Given the description of an element on the screen output the (x, y) to click on. 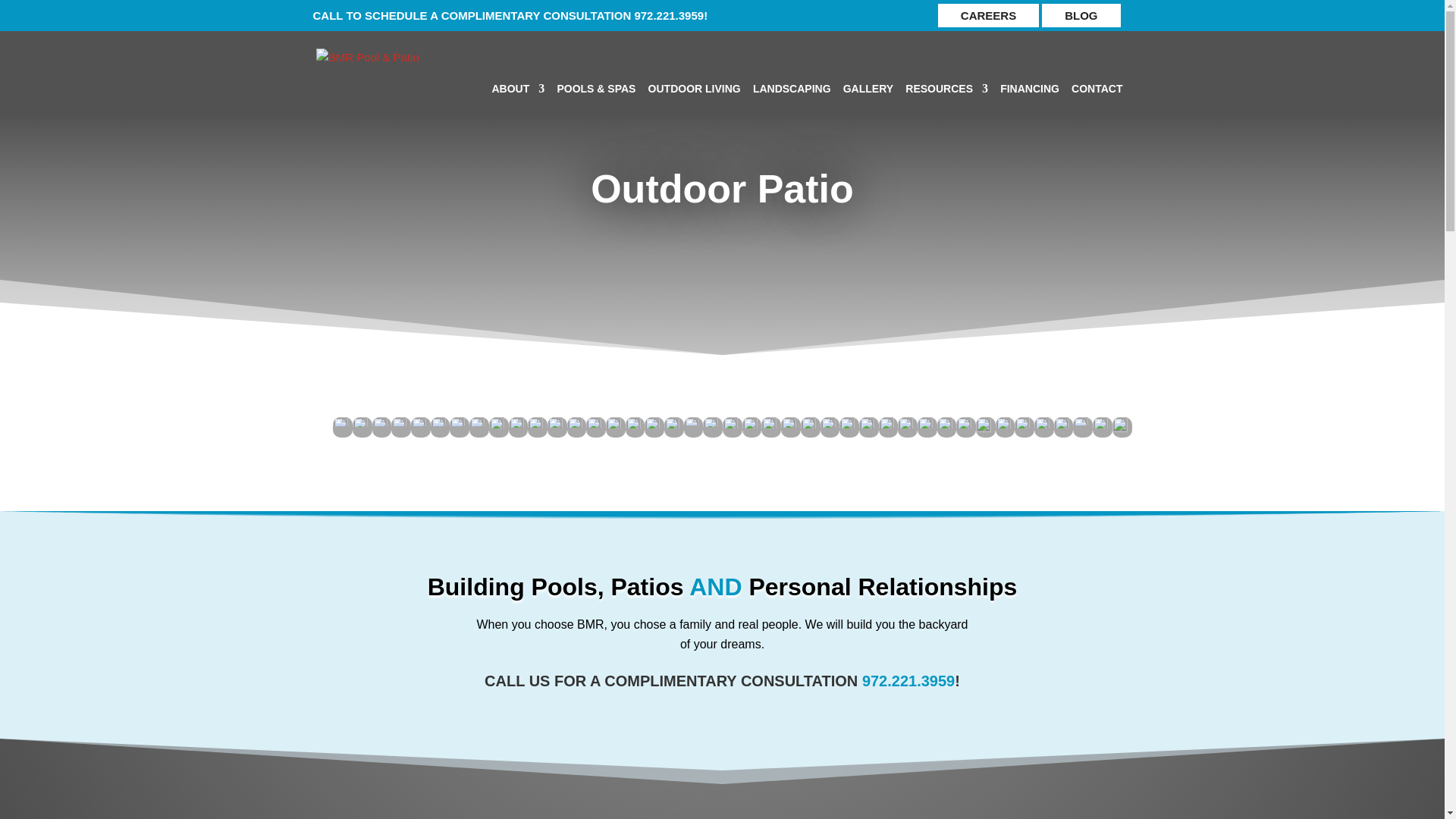
BLOG (1081, 15)
OUTDOOR LIVING (694, 118)
LANDSCAPING (791, 118)
RESOURCES (946, 118)
972.221.3959! (670, 15)
CAREERS (988, 15)
